Given the description of an element on the screen output the (x, y) to click on. 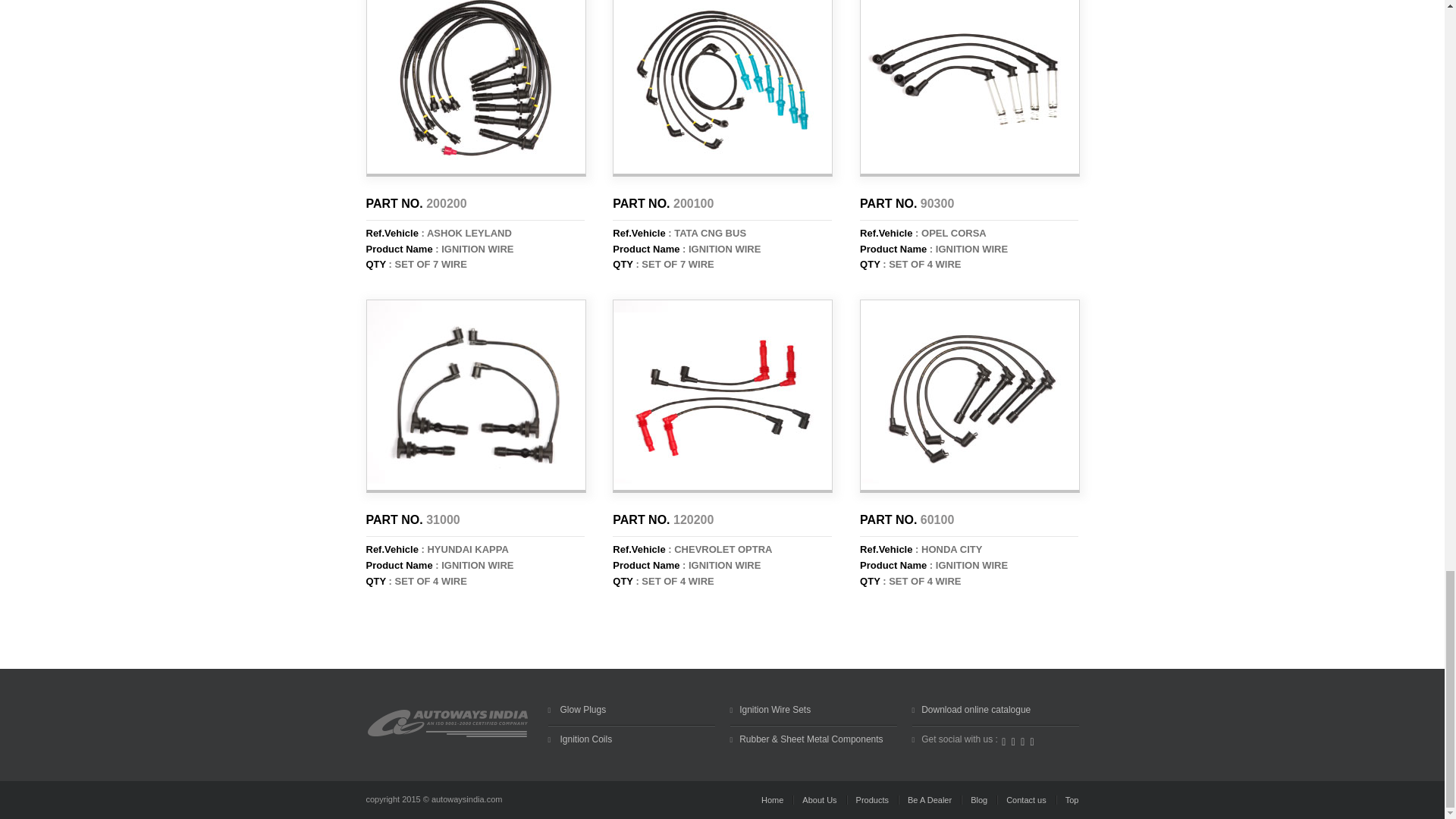
Download online catalogue (975, 709)
Ignition Coils (584, 738)
Ignition Wire Sets (774, 709)
Glow Plugs (581, 709)
